Given the description of an element on the screen output the (x, y) to click on. 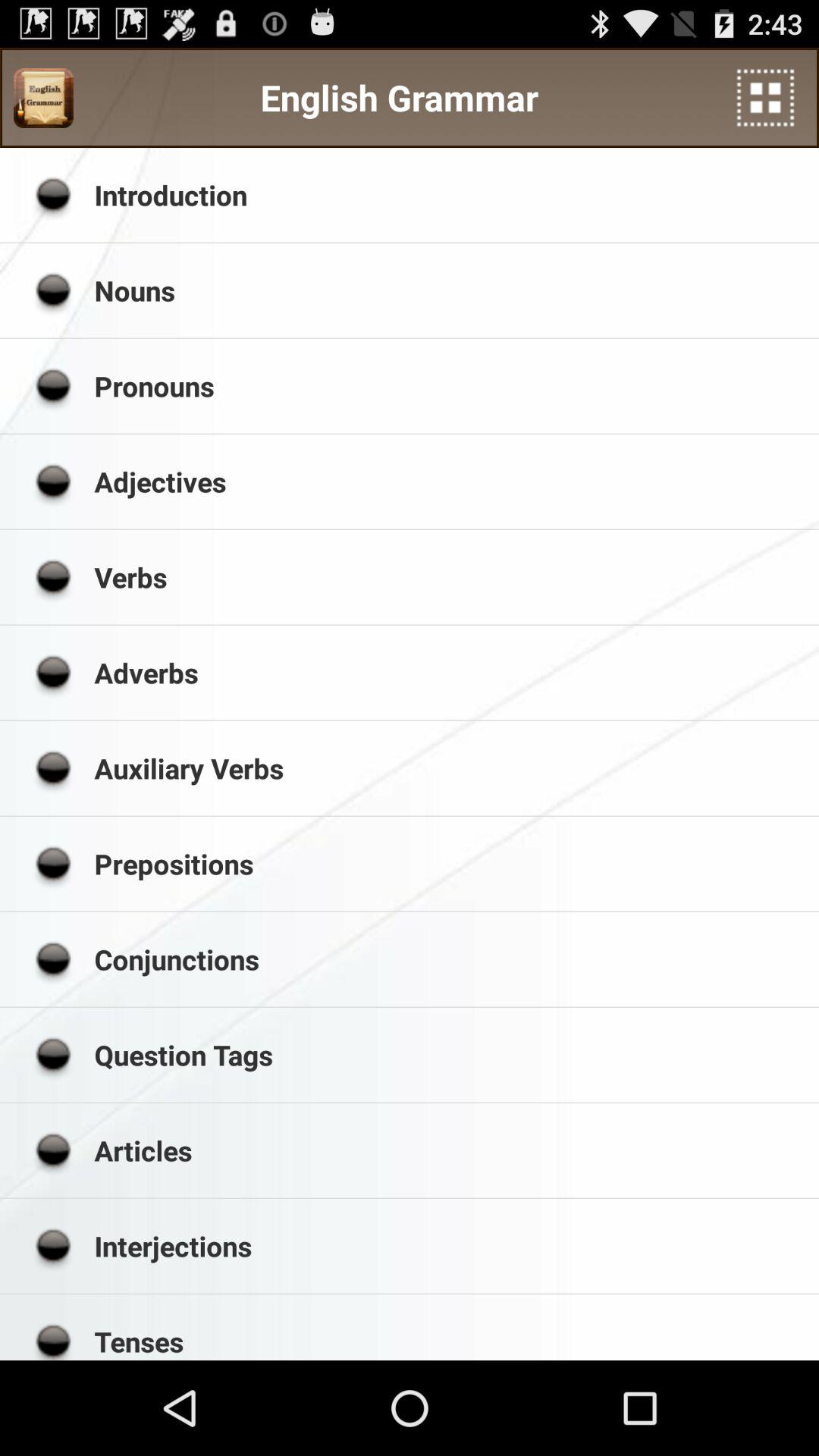
jump to auxiliary verbs icon (451, 768)
